Given the description of an element on the screen output the (x, y) to click on. 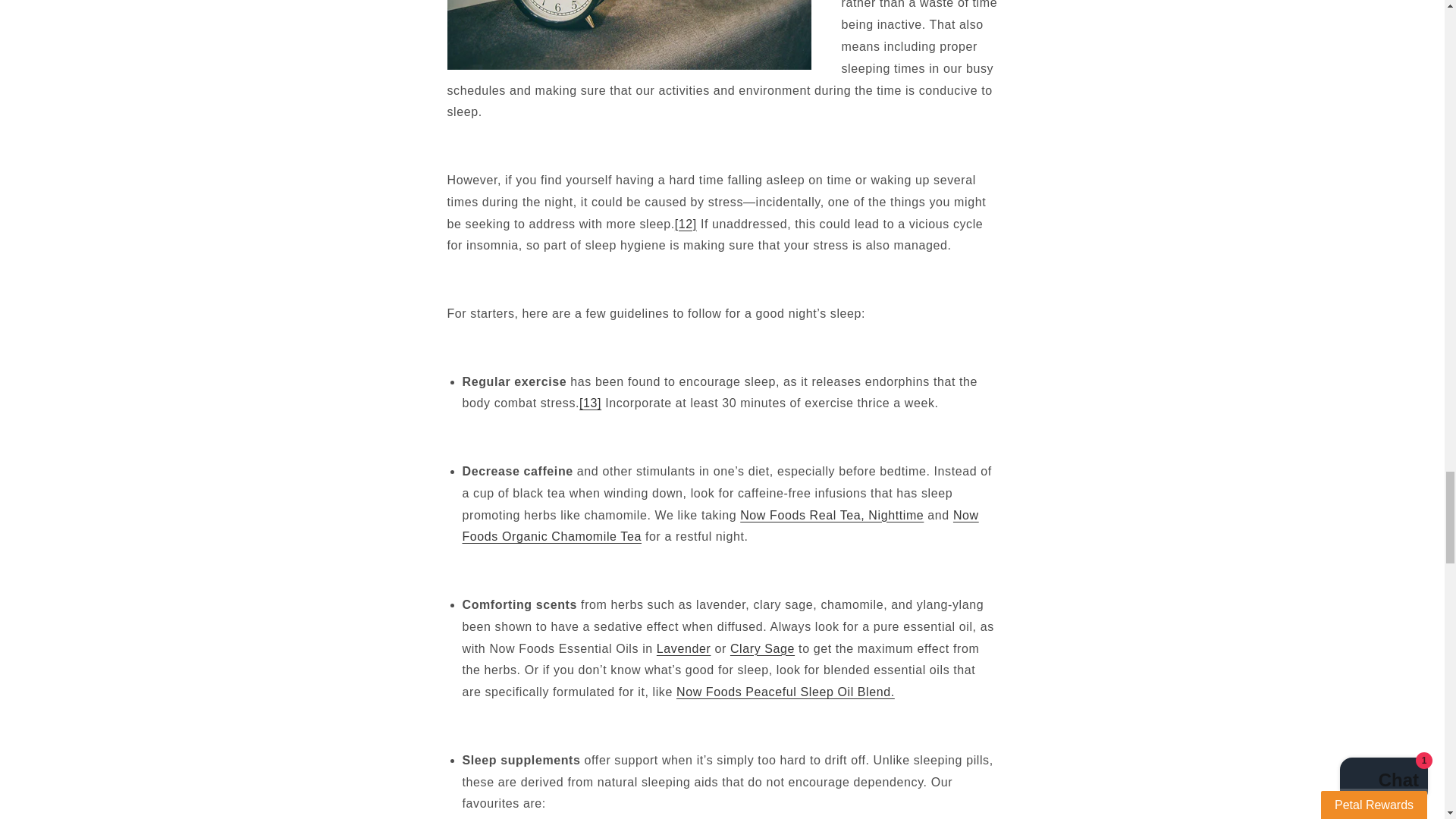
Now Foods Peaceful Sleep Oil Blend (786, 691)
Clary Sage (762, 648)
Now Foods Organic Chamomile Tea (720, 525)
Now Foods Real Tea, Nighttime (831, 514)
Lavender (683, 648)
